Given the description of an element on the screen output the (x, y) to click on. 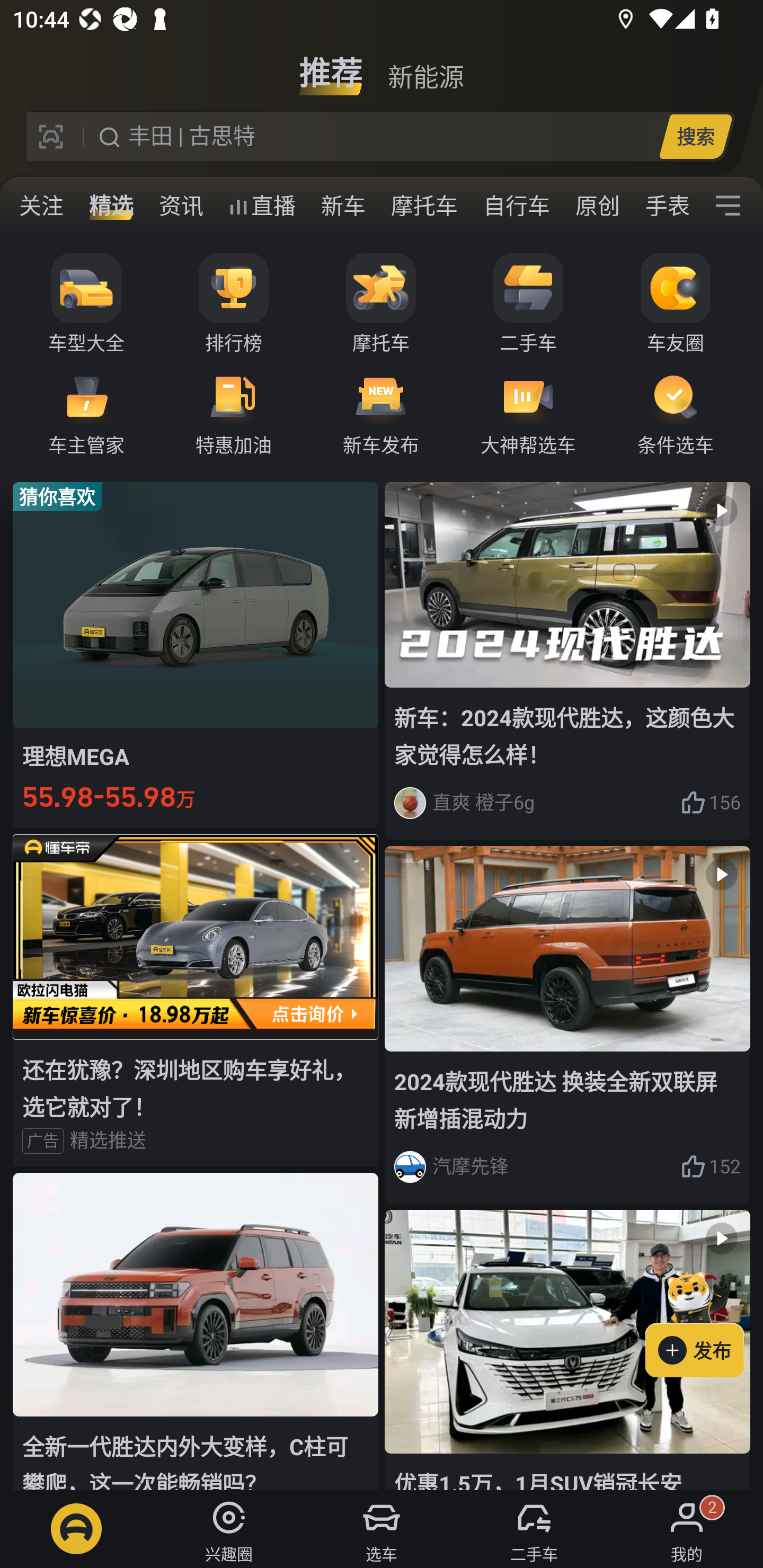
推荐 (330, 65)
新能源 (425, 65)
搜索 (695, 136)
关注 (41, 205)
精选 (111, 205)
资讯 (180, 205)
直播 (261, 205)
新车 (343, 205)
摩托车 (424, 205)
自行车 (516, 205)
原创 (597, 205)
手表 (663, 205)
 (727, 205)
车型大全 (86, 303)
排行榜 (233, 303)
摩托车 (380, 303)
二手车 (528, 303)
车友圈 (675, 303)
车主管家 (86, 412)
特惠加油 (233, 412)
新车发布 (380, 412)
大神帮选车 (528, 412)
条件选车 (675, 412)
猜你喜欢 理想MEGA 55.98-55.98万 (195, 654)
 新车：2024款现代胜达，这颜色大家觉得怎么样！ 直爽 橙子6g 156 (567, 659)
156 (710, 802)
还在犹豫？深圳地区购车享好礼，选它就对了！ 广告 精选推送 (195, 1000)
 2024款现代胜达 换装全新双联屏 新增插混动力 汽摩先锋 152 (567, 1025)
152 (710, 1166)
全新一代胜达内外大变样，C柱可攀爬，这一次能畅销吗？ (195, 1330)
 优惠1.5万，1月SUV销冠长安CS75PLUS为何值得买？性价比是亮点！ (567, 1349)
发布 (704, 1320)
 兴趣圈 (228, 1528)
 选车 (381, 1528)
 二手车 (533, 1528)
 我的 (686, 1528)
